Given the description of an element on the screen output the (x, y) to click on. 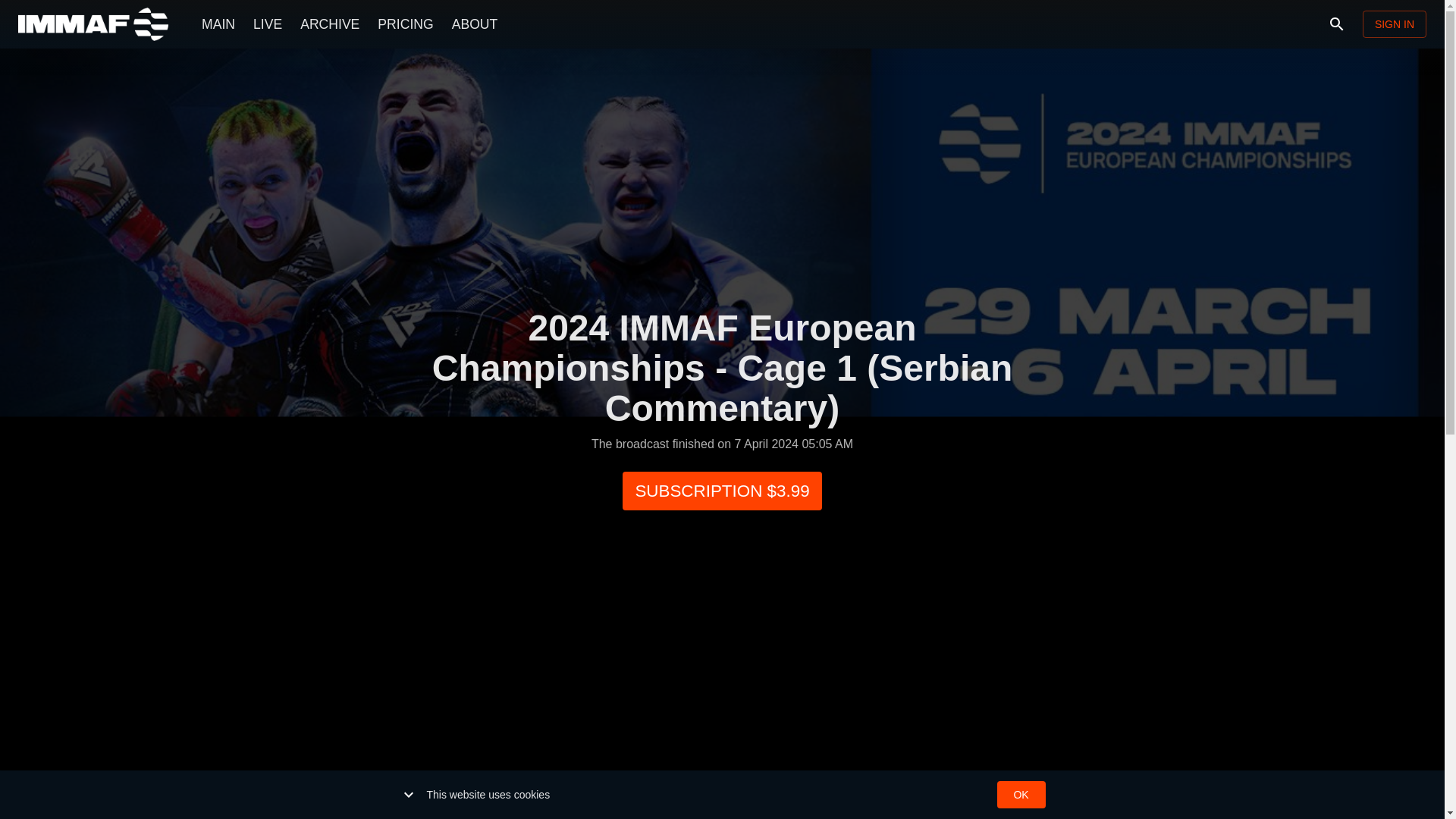
LIVE (267, 24)
SIGN IN (1394, 24)
OK (1020, 795)
PRICING (405, 24)
ARCHIVE (329, 24)
ABOUT (474, 24)
MAIN (218, 24)
